Given the description of an element on the screen output the (x, y) to click on. 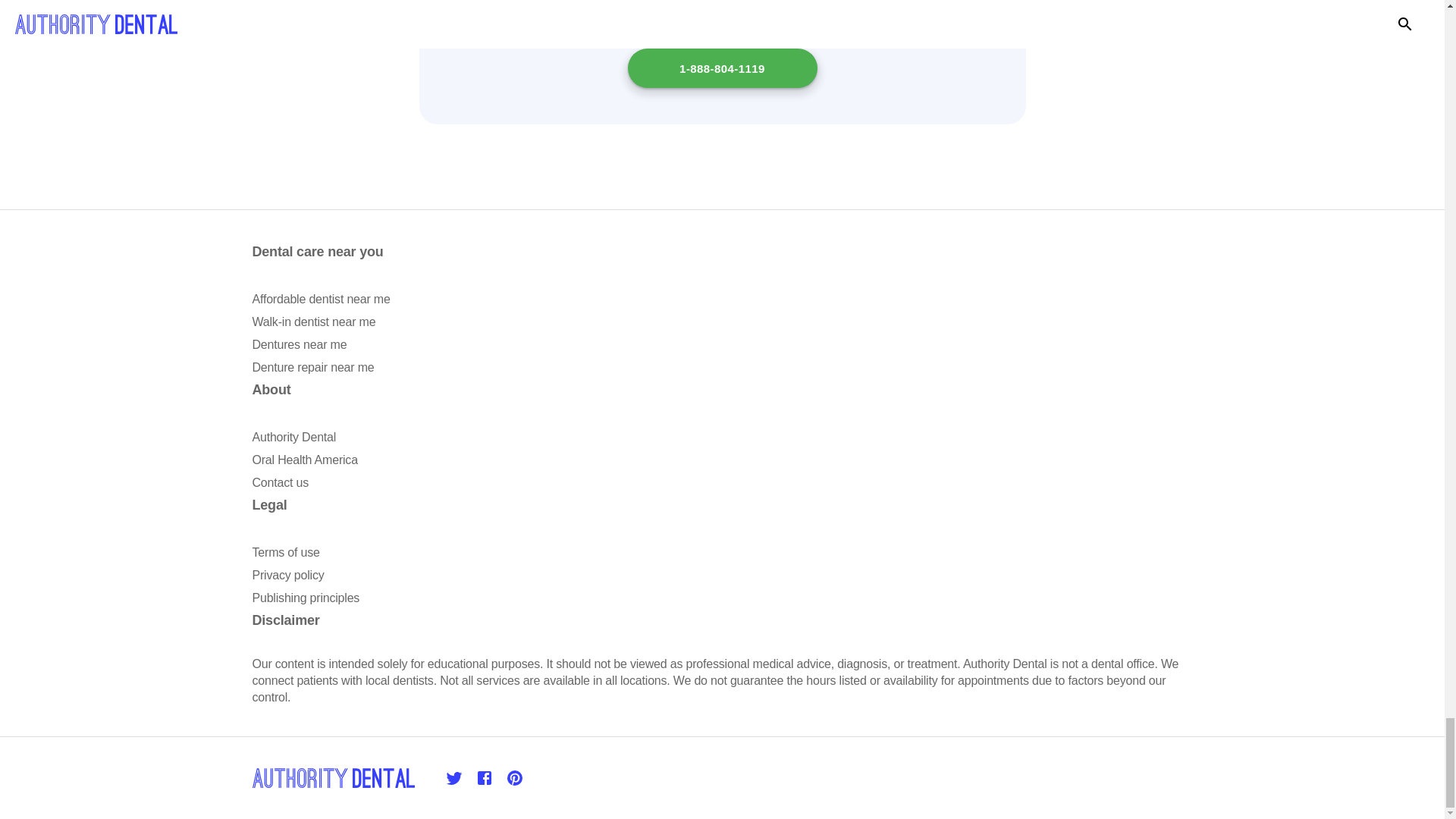
Walk-in dentist near me (313, 321)
Oral Health America (303, 459)
Denture repair near me (312, 367)
Contact us (279, 481)
Publishing principles (305, 597)
Authority Dental (293, 436)
1-888-804-1119 (721, 67)
Terms of use (284, 552)
Dentures near me (298, 344)
Affordable dentist near me (320, 298)
